Given the description of an element on the screen output the (x, y) to click on. 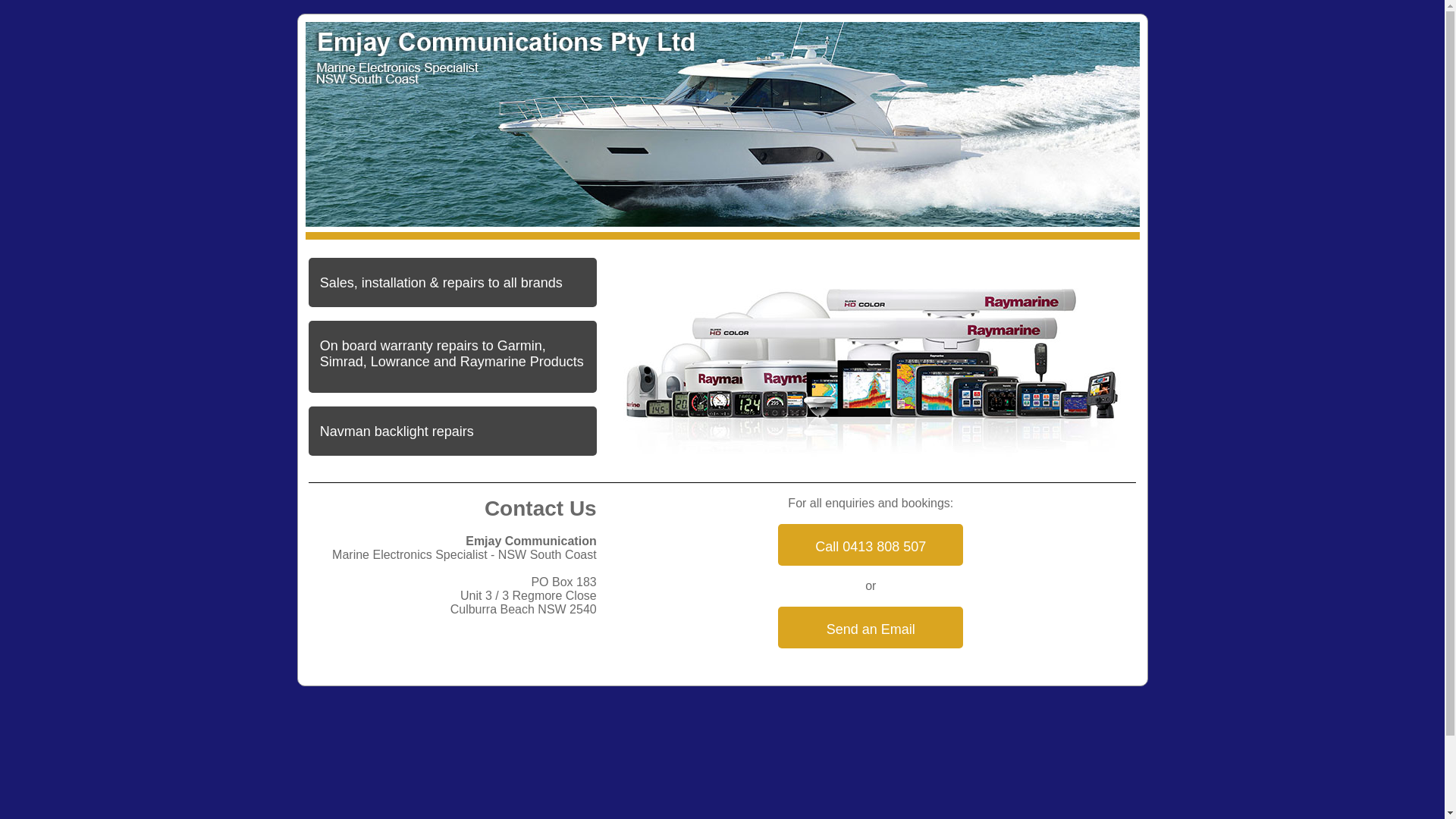
Raymarine Element type: hover (870, 365)
Send an Email Element type: text (870, 627)
